Given the description of an element on the screen output the (x, y) to click on. 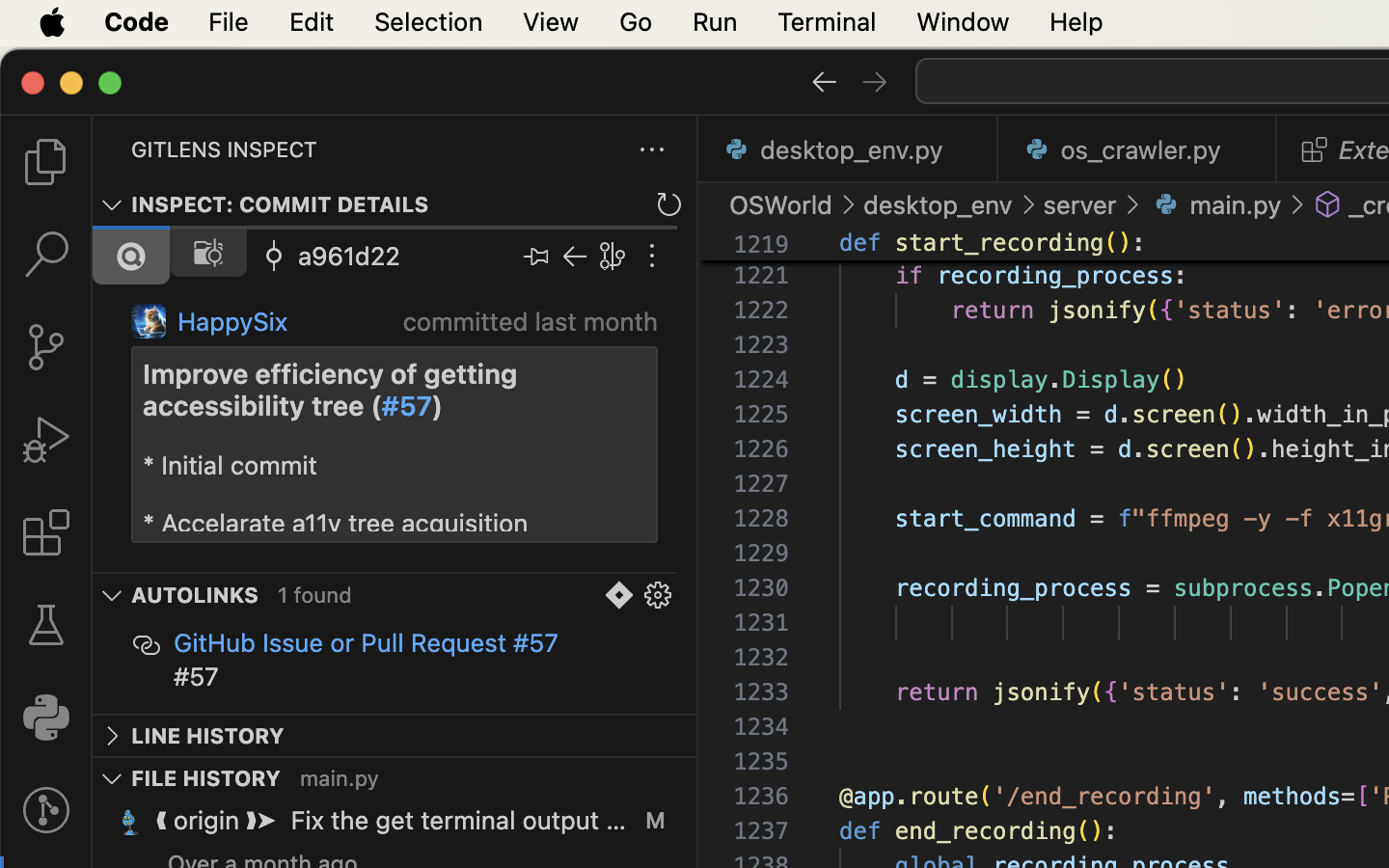
 Element type: AXGroup (46, 254)
 Element type: AXButton (874, 80)
def Element type: AXStaticText (860, 242)
 Element type: AXStaticText (207, 252)
AUTOLINKS Element type: AXStaticText (194, 595)
